Given the description of an element on the screen output the (x, y) to click on. 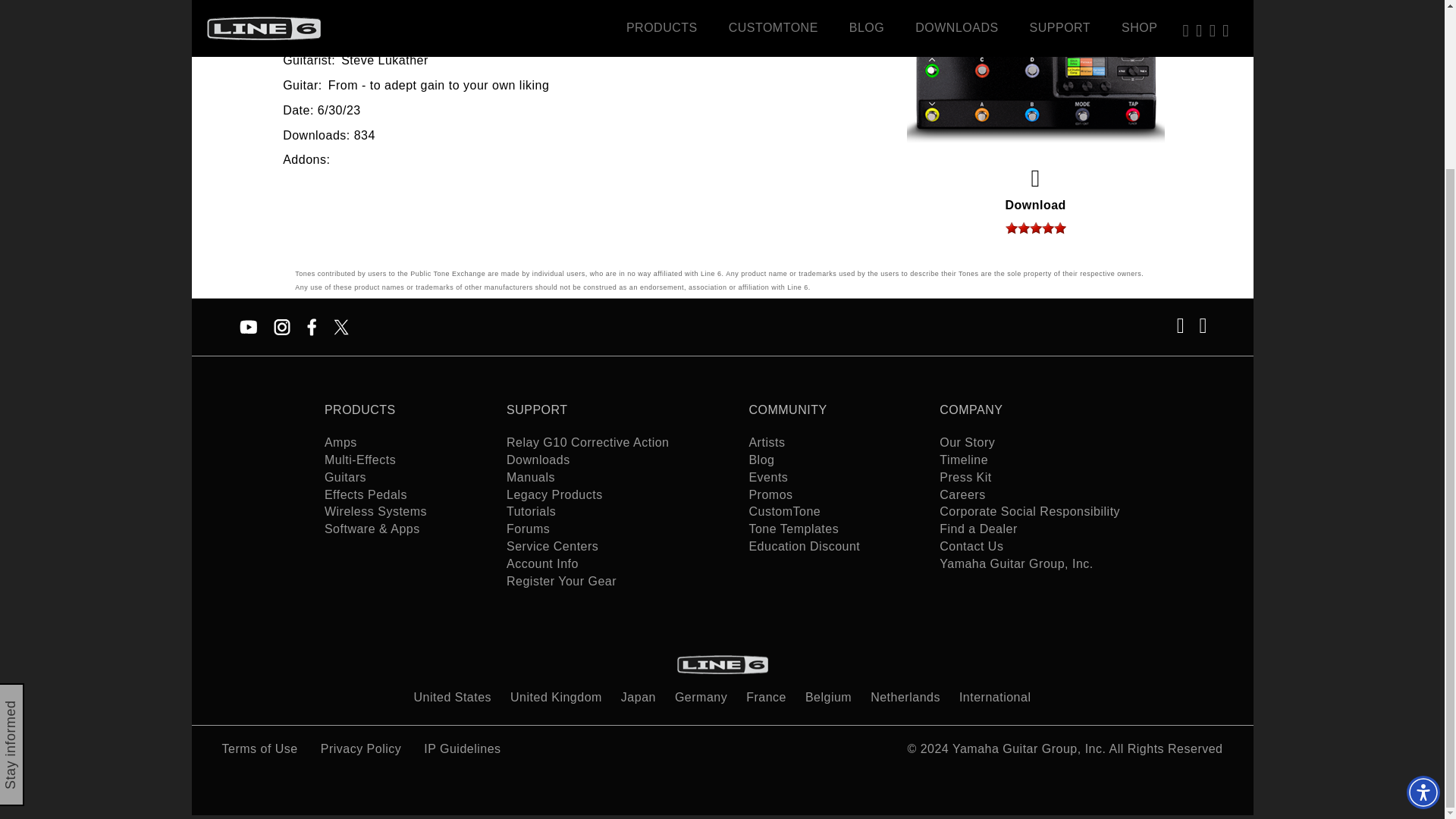
Accessibility Menu (1422, 590)
